Given the description of an element on the screen output the (x, y) to click on. 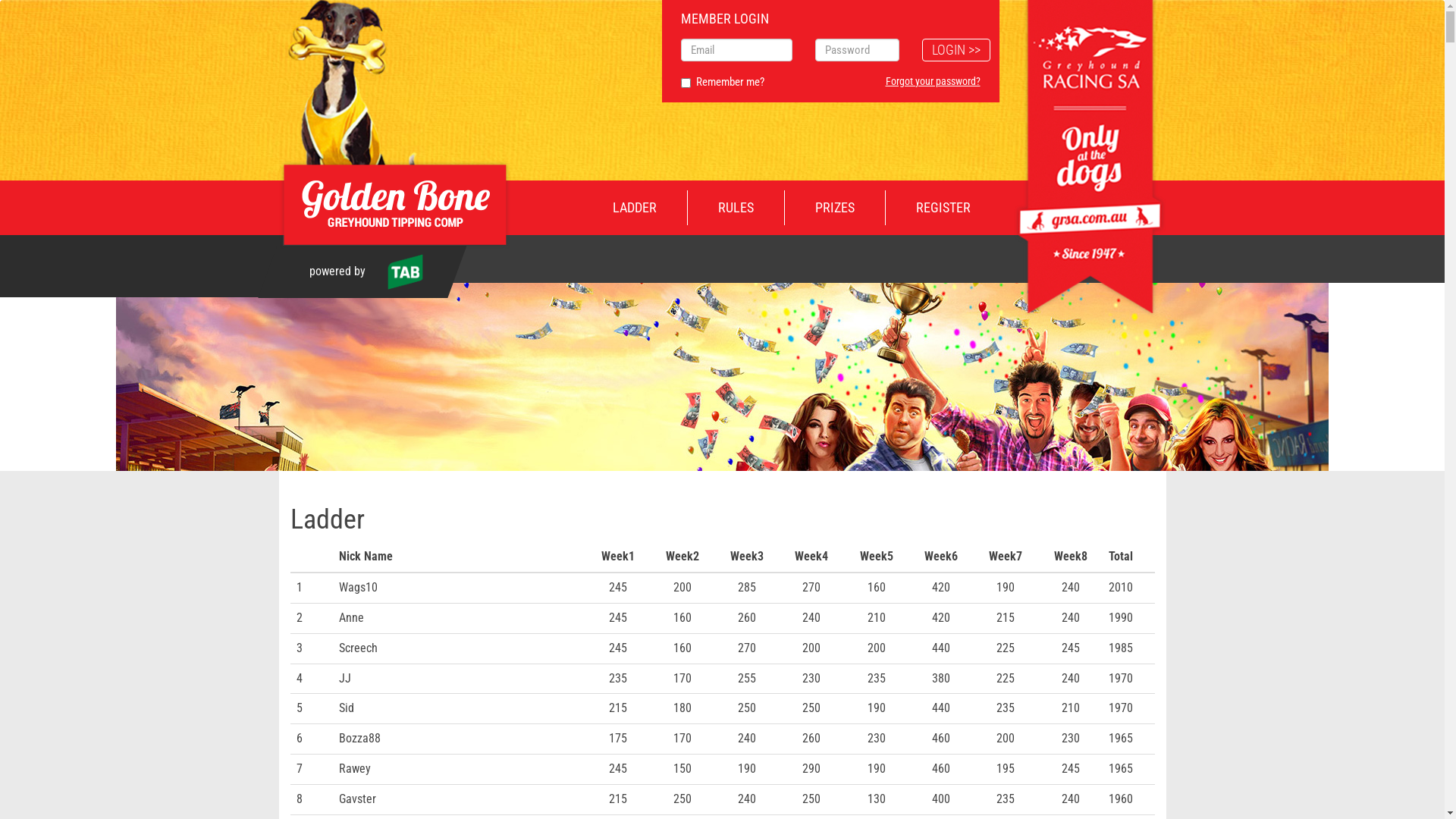
Login >> Element type: text (956, 49)
Forgot your password? Element type: text (932, 81)
RULES Element type: text (735, 207)
PRIZES Element type: text (834, 207)
REGISTER Element type: text (943, 207)
LADDER Element type: text (634, 207)
